Given the description of an element on the screen output the (x, y) to click on. 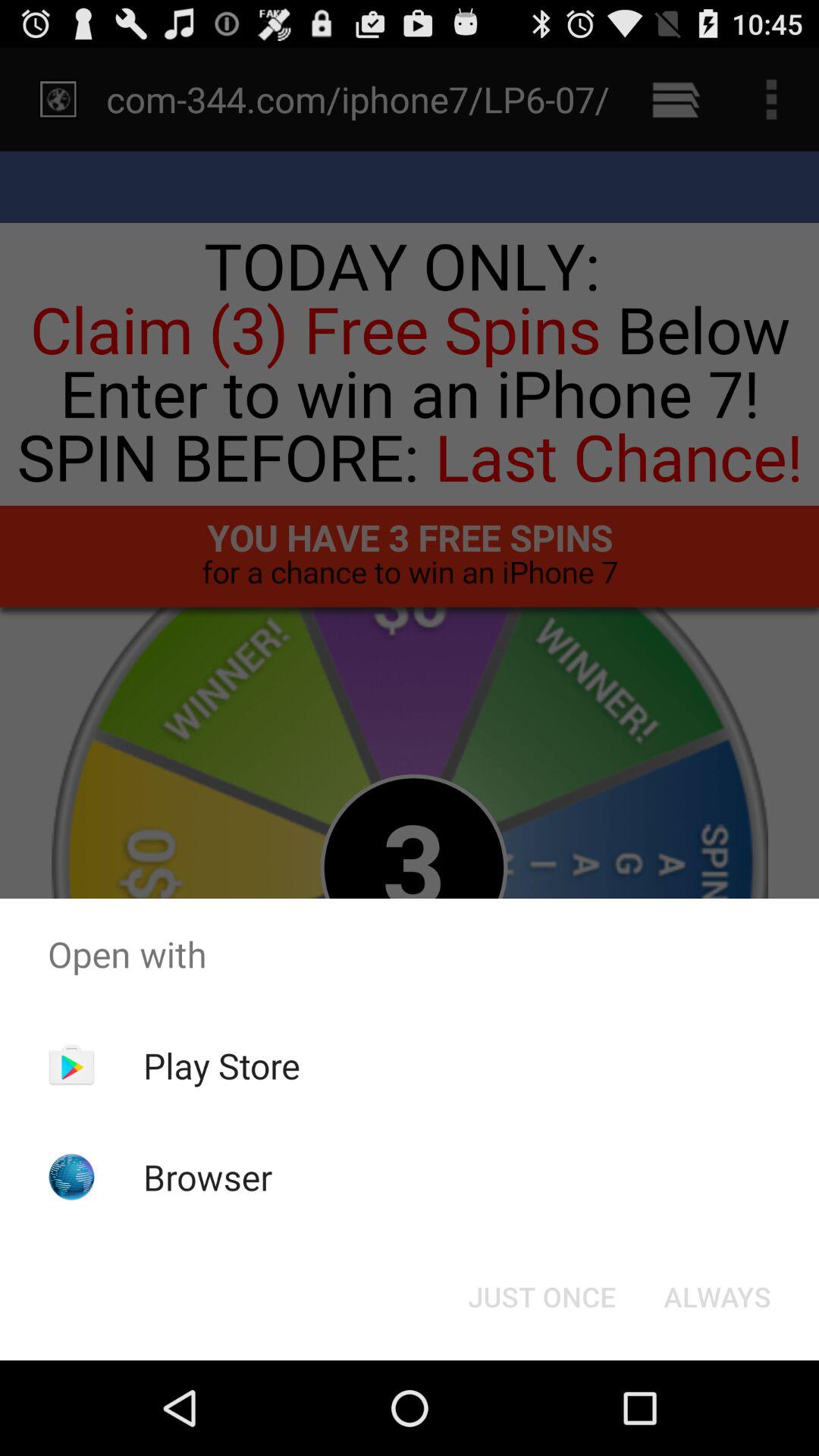
jump to the just once icon (541, 1296)
